Given the description of an element on the screen output the (x, y) to click on. 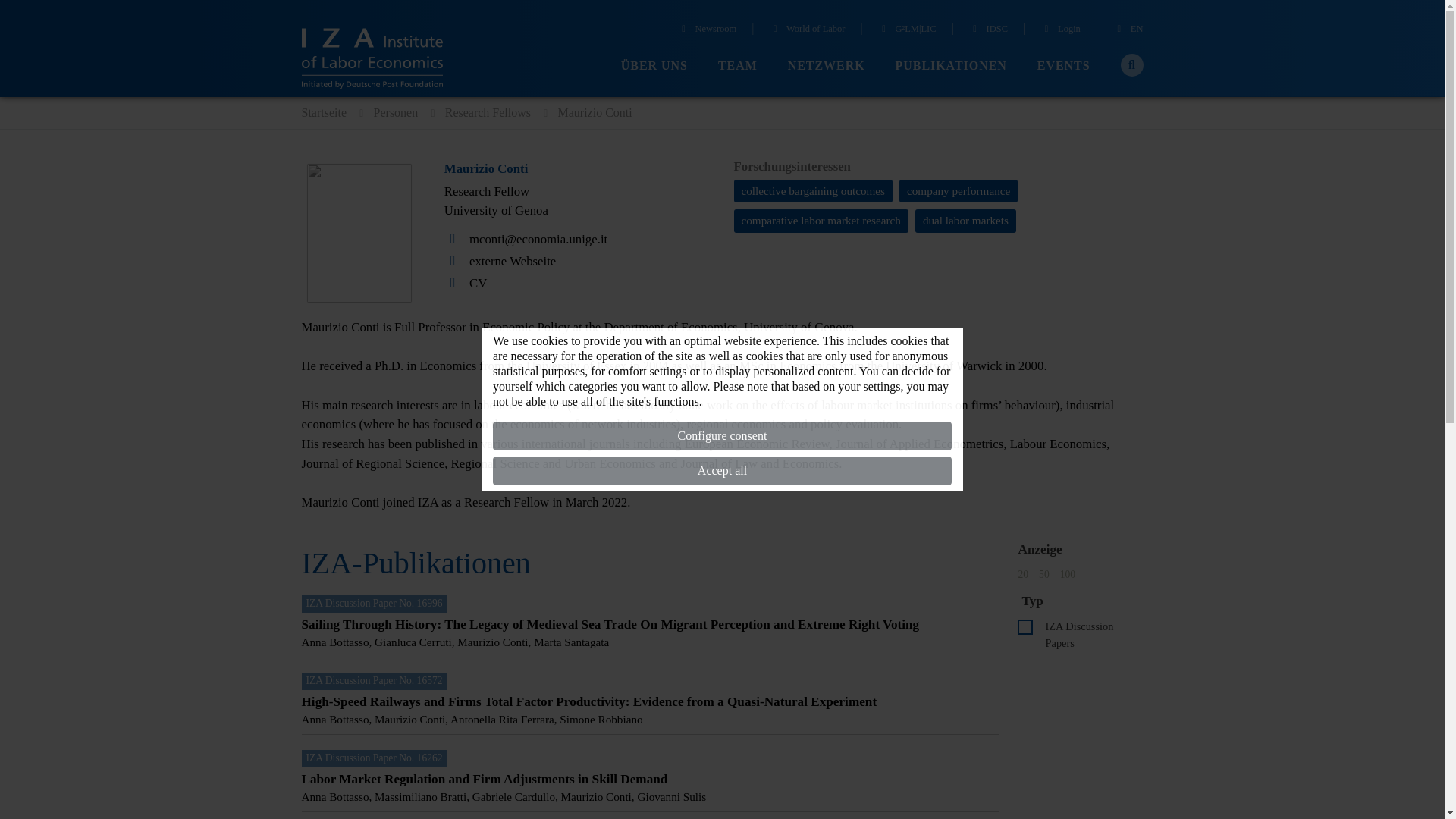
World of Labor (807, 30)
PUBLIKATIONEN (951, 66)
NETZWERK (825, 66)
dp (1024, 626)
IDSC (988, 30)
TEAM (737, 66)
Newsroom (707, 30)
Login (1060, 30)
EN (1127, 30)
EVENTS (1063, 66)
